Given the description of an element on the screen output the (x, y) to click on. 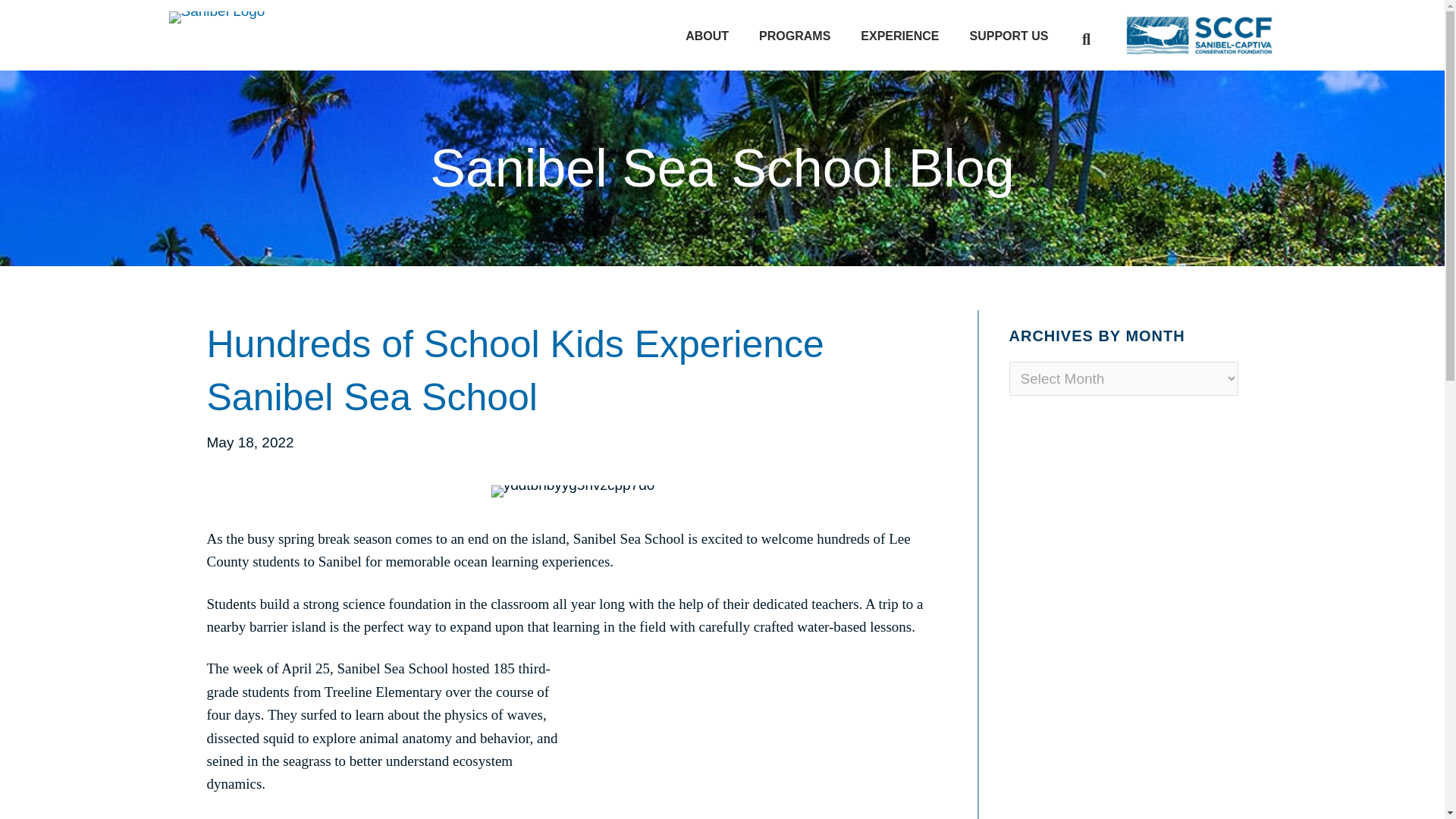
Sccf Logo New (1199, 34)
EXPERIENCE (899, 36)
SUPPORT US (1007, 36)
Sanibel Logo (216, 17)
ABOUT (706, 36)
yddtbnbyyg5nvzcpp7d0 (573, 491)
PROGRAMS (794, 36)
